Given the description of an element on the screen output the (x, y) to click on. 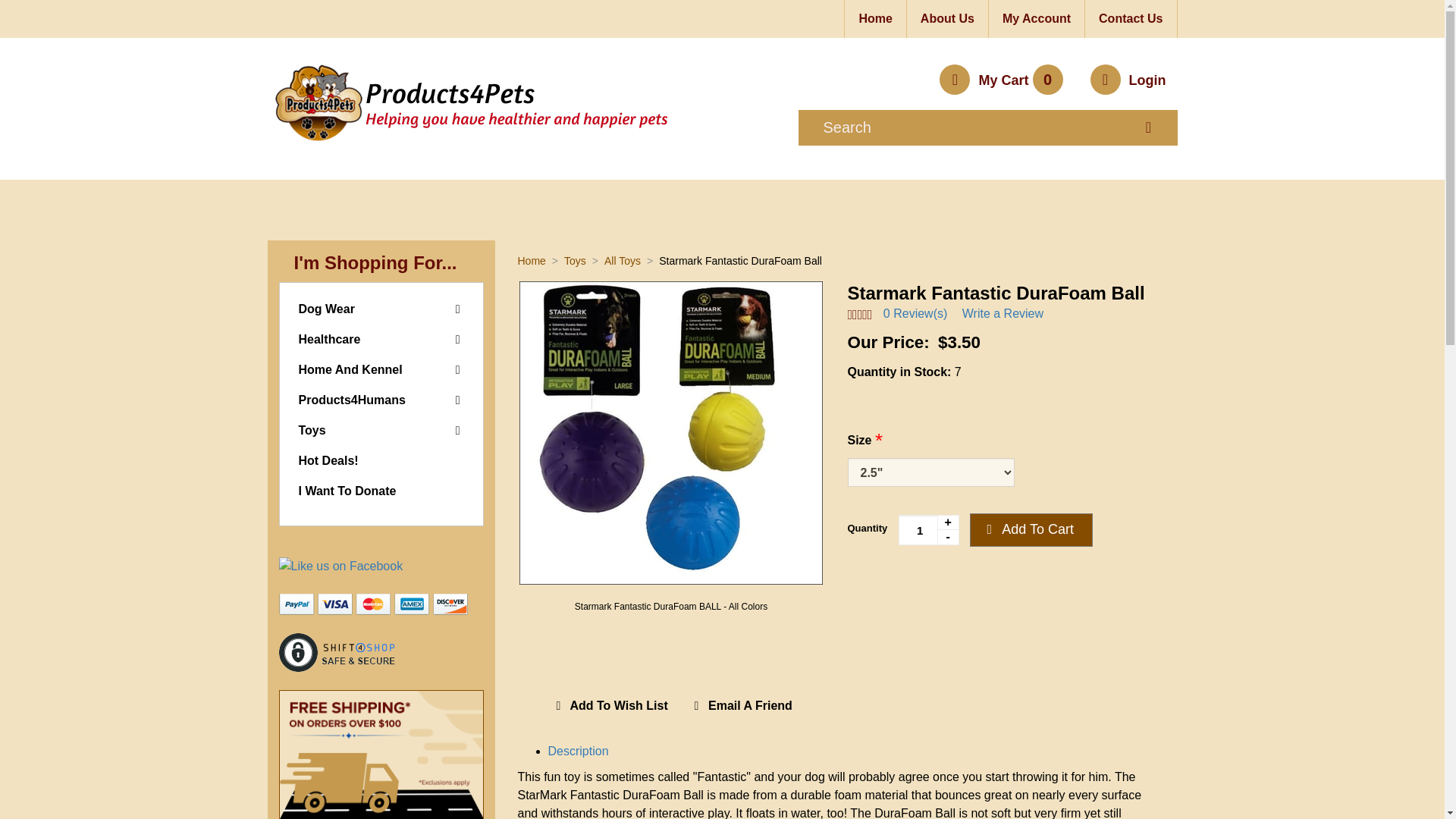
Like us on Facebook! (341, 566)
Home And Kennel (350, 369)
Starmark Fantastic DuraFoam BALL - All Colors  (670, 432)
Starmark Fantastic DuraFoam BALL - All Colors  (670, 606)
Login (1128, 79)
My Cart 0 (1003, 79)
Dog Wear (326, 308)
My Account (1036, 18)
3dcart Safe and Secure (336, 652)
Home (874, 18)
Products4Humans (352, 399)
About Us (947, 18)
Healthcare (329, 338)
Contact Us (1130, 18)
